Given the description of an element on the screen output the (x, y) to click on. 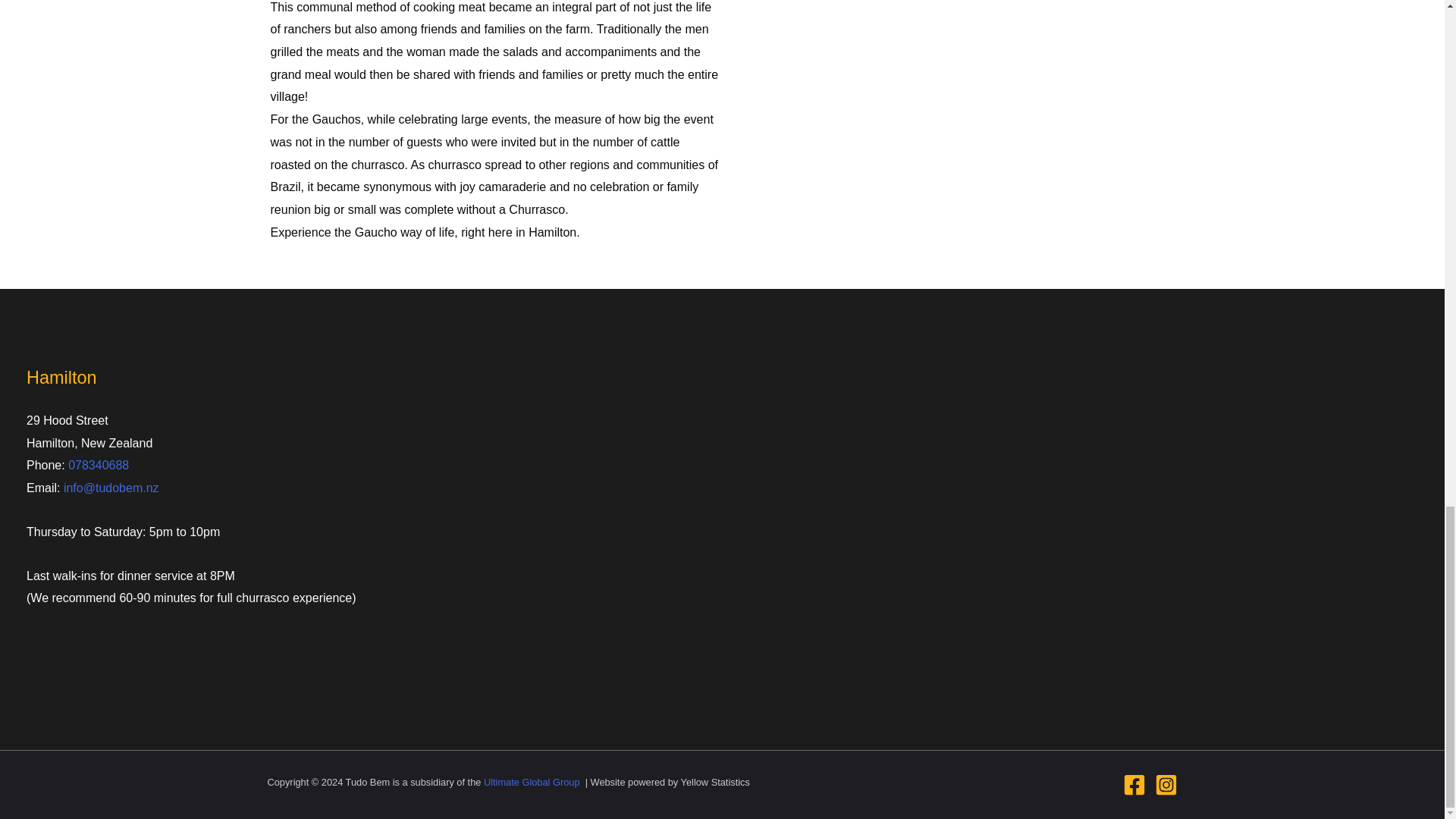
Barbecue Churrasco (958, 110)
078340688 (98, 464)
Ultimate Global Group (532, 781)
